Given the description of an element on the screen output the (x, y) to click on. 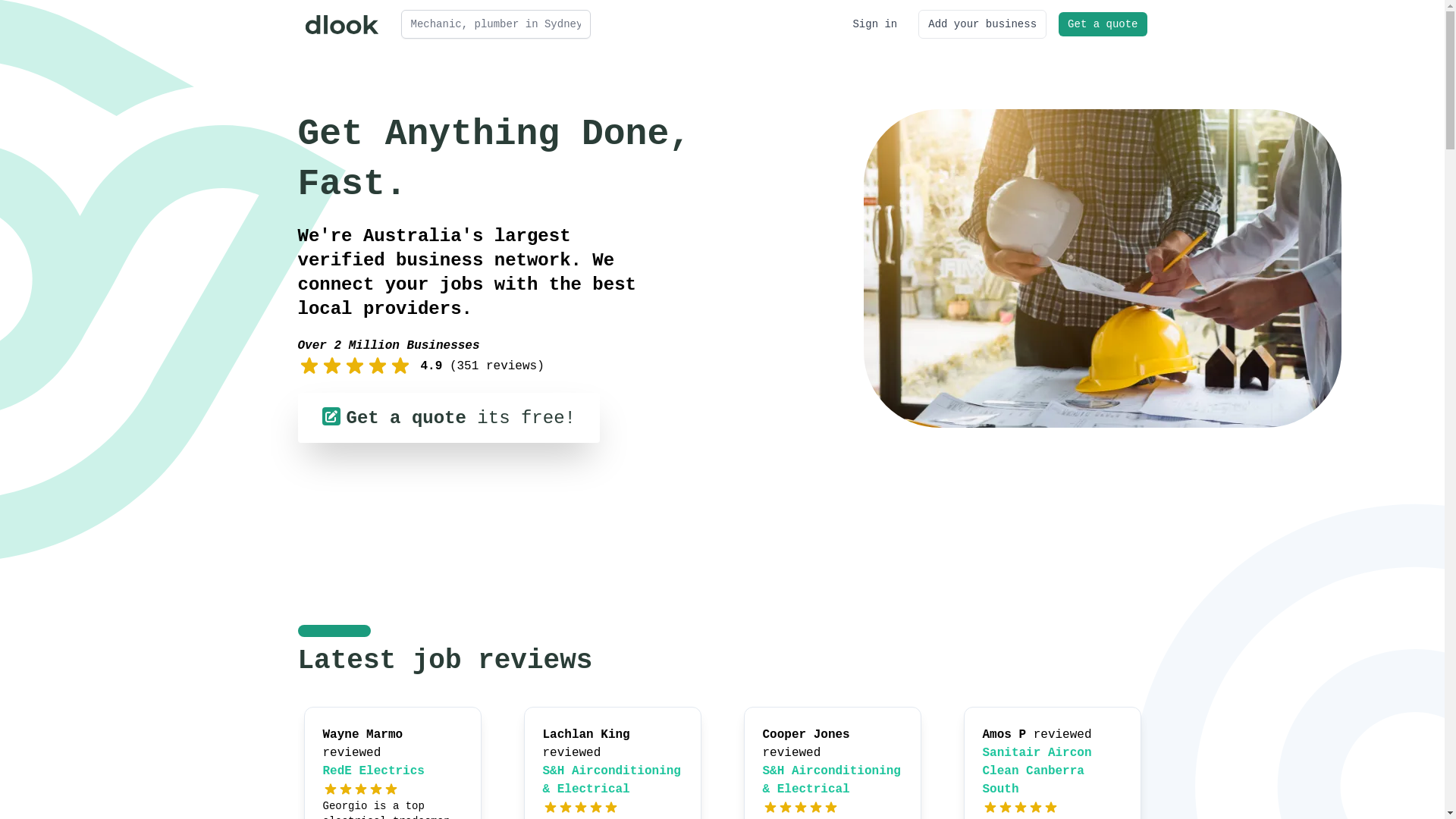
Sign in Element type: text (874, 23)
S&H Airconditioning & Electrical Element type: text (611, 780)
Get a quote Element type: text (1102, 24)
S&H Airconditioning & Electrical Element type: text (831, 780)
Get a quote its free! Element type: text (448, 417)
Sanitair Aircon Clean Canberra South Element type: text (1037, 771)
Add your business Element type: text (982, 23)
RedE Electrics Element type: text (373, 771)
